Given the description of an element on the screen output the (x, y) to click on. 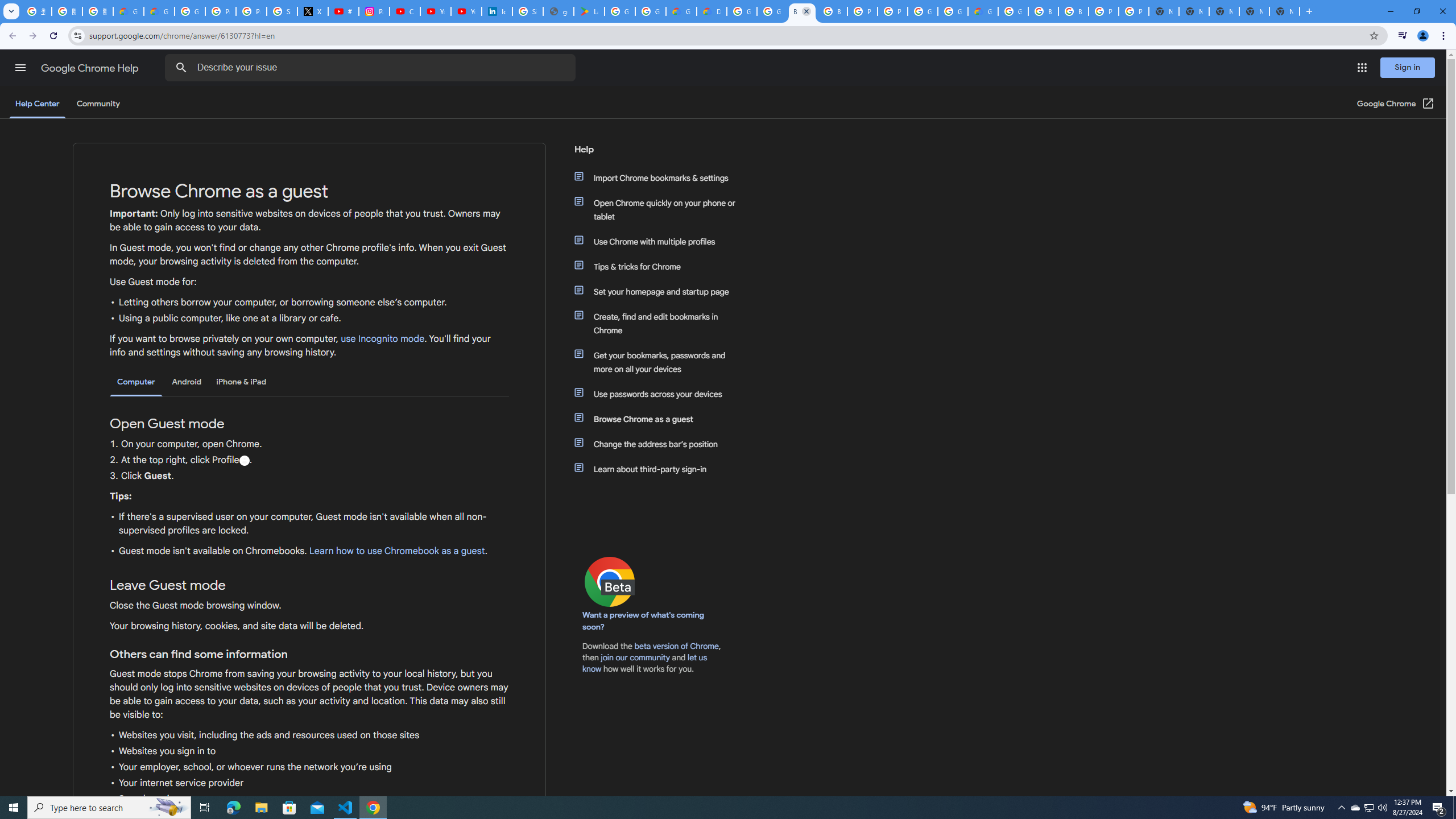
Profile (243, 460)
Learn how to use Chromebook as a guest (396, 550)
Browse Chrome as a guest (661, 419)
Want a preview of what's coming soon? (643, 621)
Google Cloud Estimate Summary (982, 11)
Sign in - Google Accounts (527, 11)
Google Cloud Privacy Notice (127, 11)
YouTube Culture & Trends - YouTube Top 10, 2021 (465, 11)
